Given the description of an element on the screen output the (x, y) to click on. 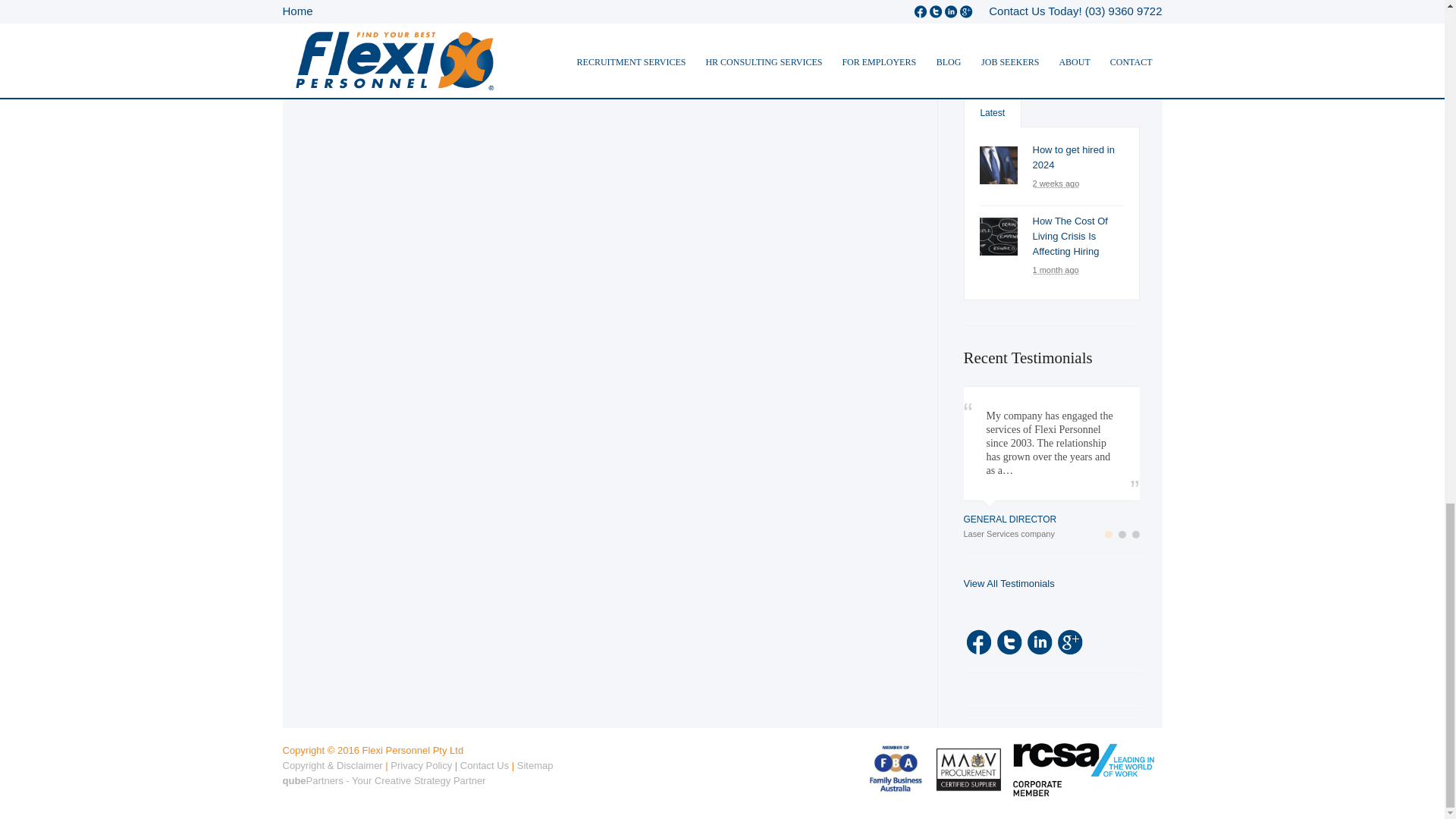
How to get hired in 2024 (1073, 157)
Sign Up (1050, 25)
How The Cost Of Living Crisis Is Affecting Hiring (1070, 236)
How The Cost Of Living Crisis Is Affecting Hiring (998, 236)
12-07-2024 (1056, 183)
How to get hired in 2024 (998, 165)
13-06-2024 (1055, 269)
